Given the description of an element on the screen output the (x, y) to click on. 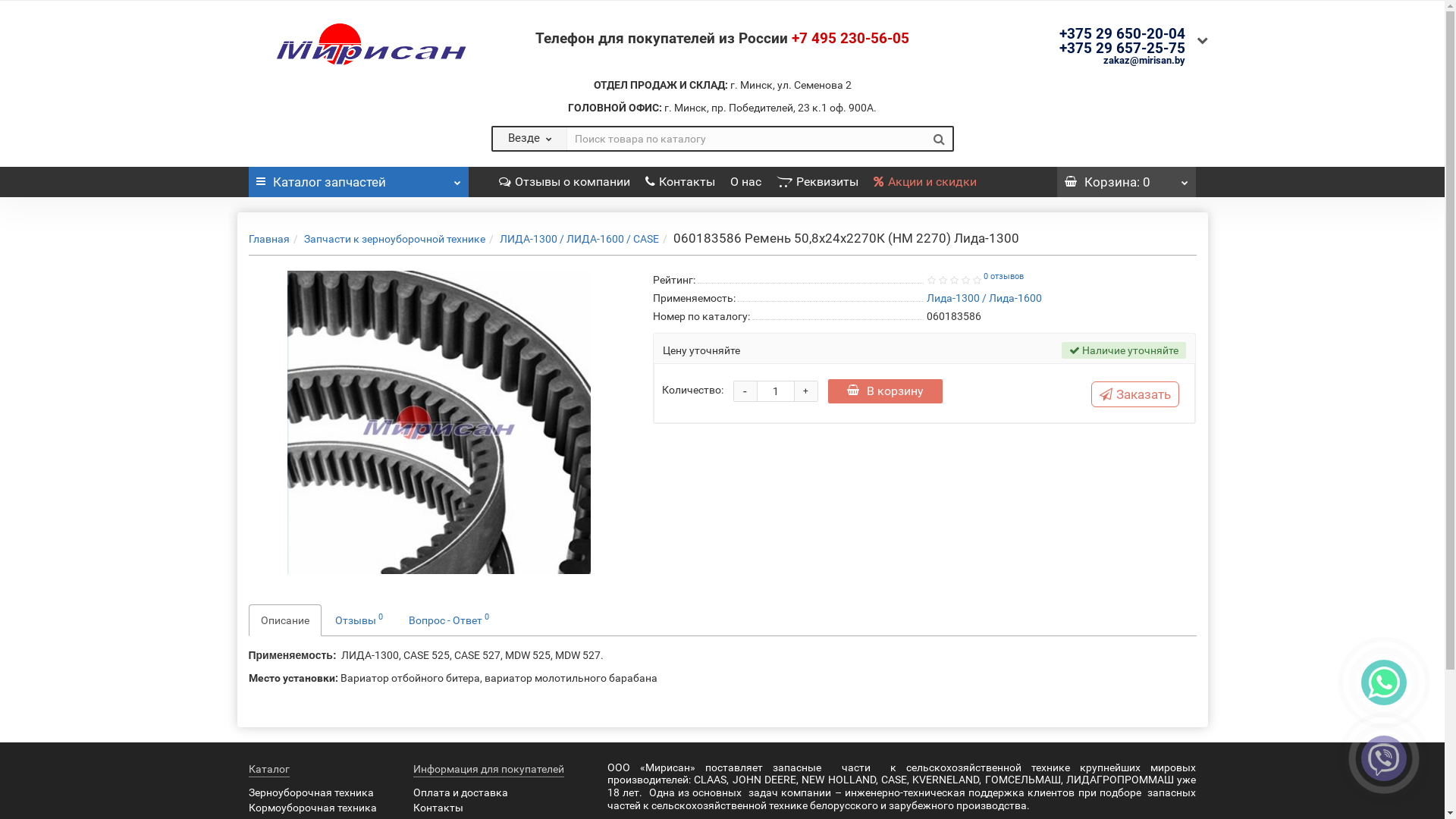
+ Element type: text (805, 391)
- Element type: text (745, 391)
+375 29 650-20-04
+375 29 657-25-75 Element type: text (1121, 37)
zakaz@mirisan.by Element type: text (1143, 59)
